Given the description of an element on the screen output the (x, y) to click on. 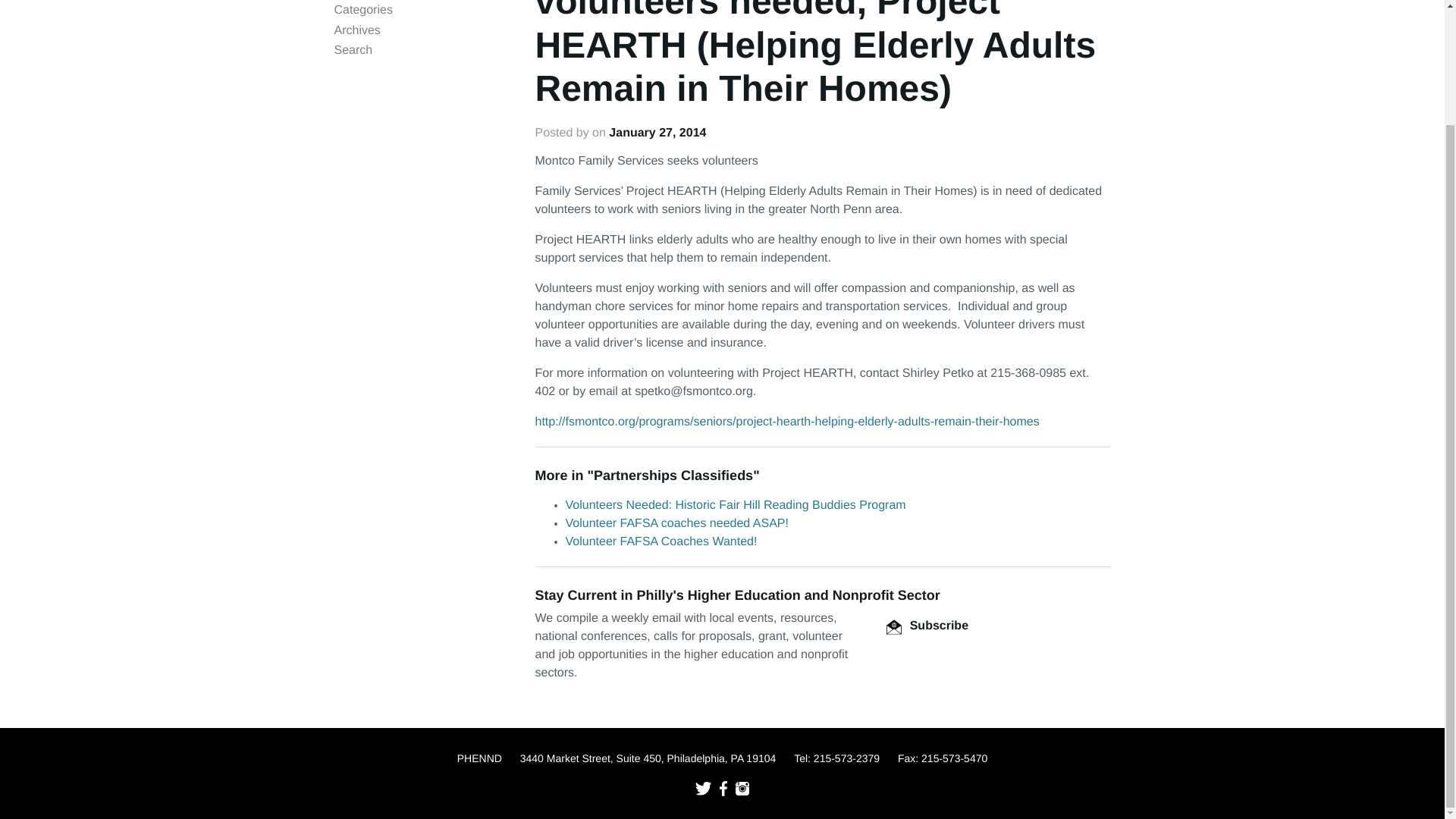
January 27, 2014 (657, 132)
Partnerships Classifieds (673, 475)
Archives (356, 30)
Categories (362, 10)
Volunteer FAFSA Coaches Wanted! (661, 541)
Search (352, 50)
Subscribe (927, 625)
Volunteer FAFSA coaches needed ASAP! (677, 522)
